Given the description of an element on the screen output the (x, y) to click on. 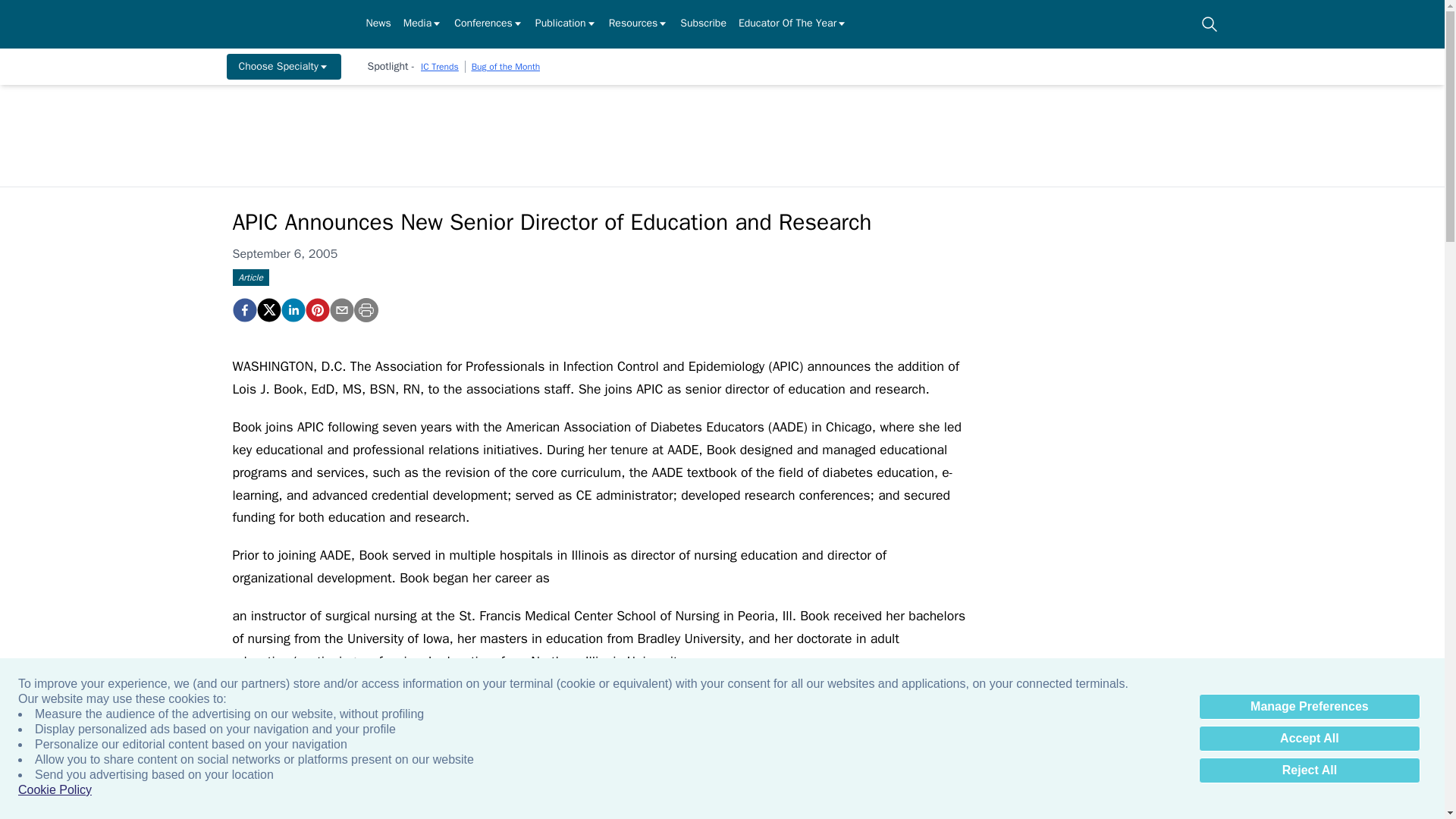
Conferences (488, 23)
Publication (565, 23)
News (377, 23)
Educator Of The Year (792, 23)
APIC Announces New Senior Director of Education and Research (243, 310)
Resources (638, 23)
Accept All (1309, 738)
APIC Announces New Senior Director of Education and Research (316, 310)
Cookie Policy (54, 789)
Subscribe (702, 23)
Manage Preferences (1309, 706)
Reject All (1309, 769)
Media (422, 23)
